Given the description of an element on the screen output the (x, y) to click on. 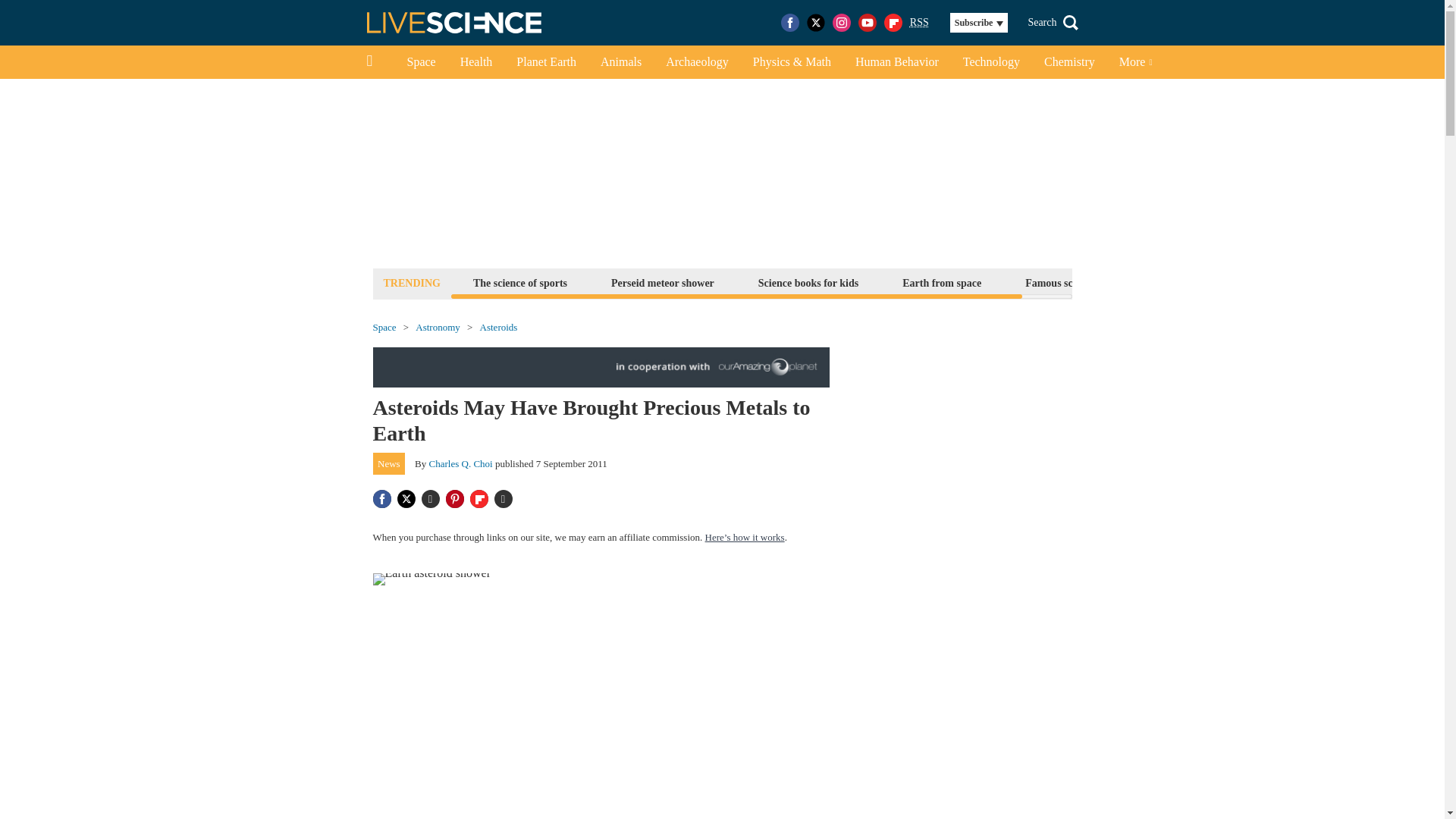
Archaeology (697, 61)
Earth from space (941, 282)
Really Simple Syndication (919, 21)
Space (420, 61)
Asteroids (499, 327)
The science of sports (519, 282)
News (389, 463)
RSS (919, 22)
Human Behavior (896, 61)
Technology (991, 61)
